Given the description of an element on the screen output the (x, y) to click on. 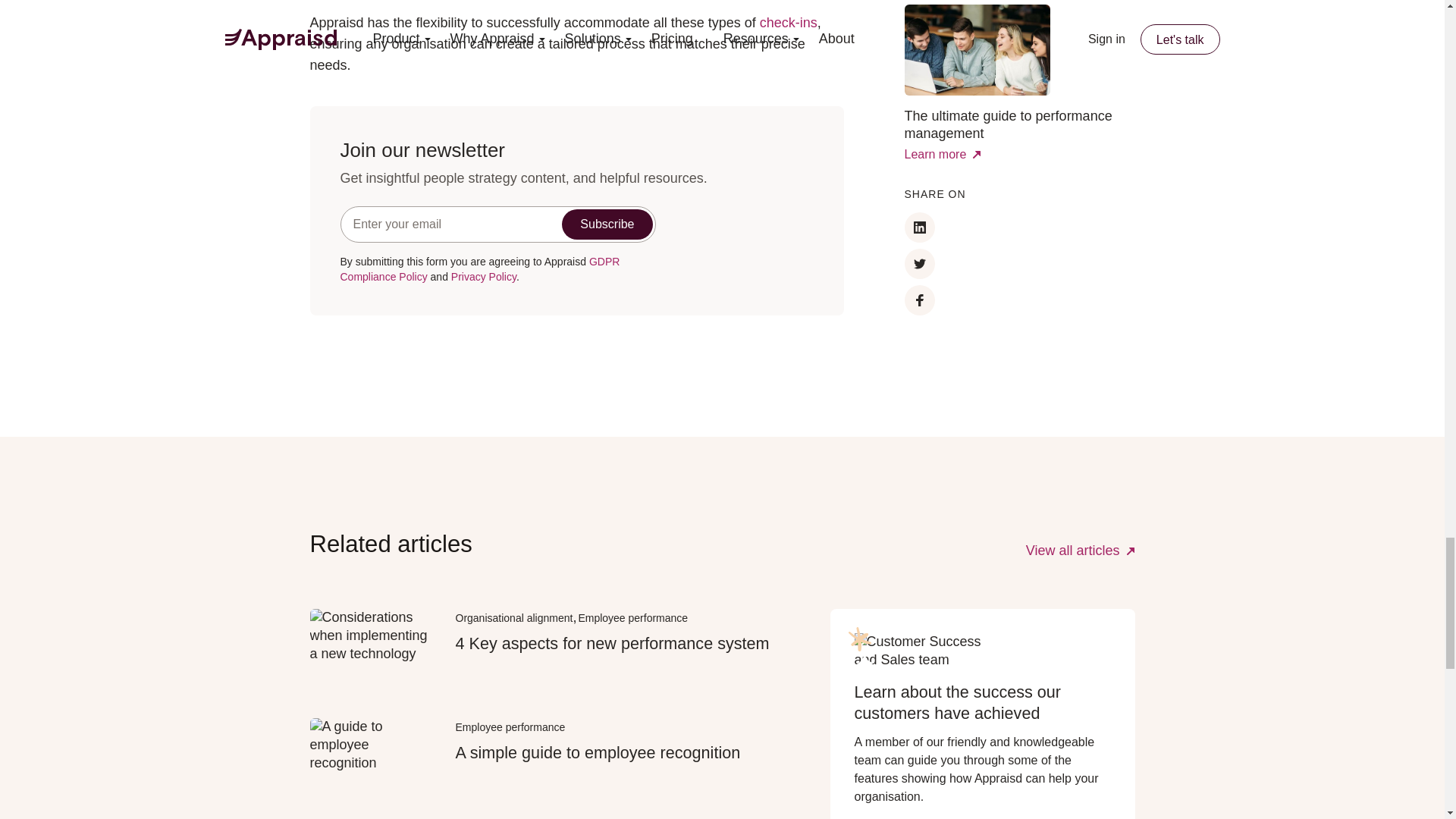
Subscribe (607, 224)
